Given the description of an element on the screen output the (x, y) to click on. 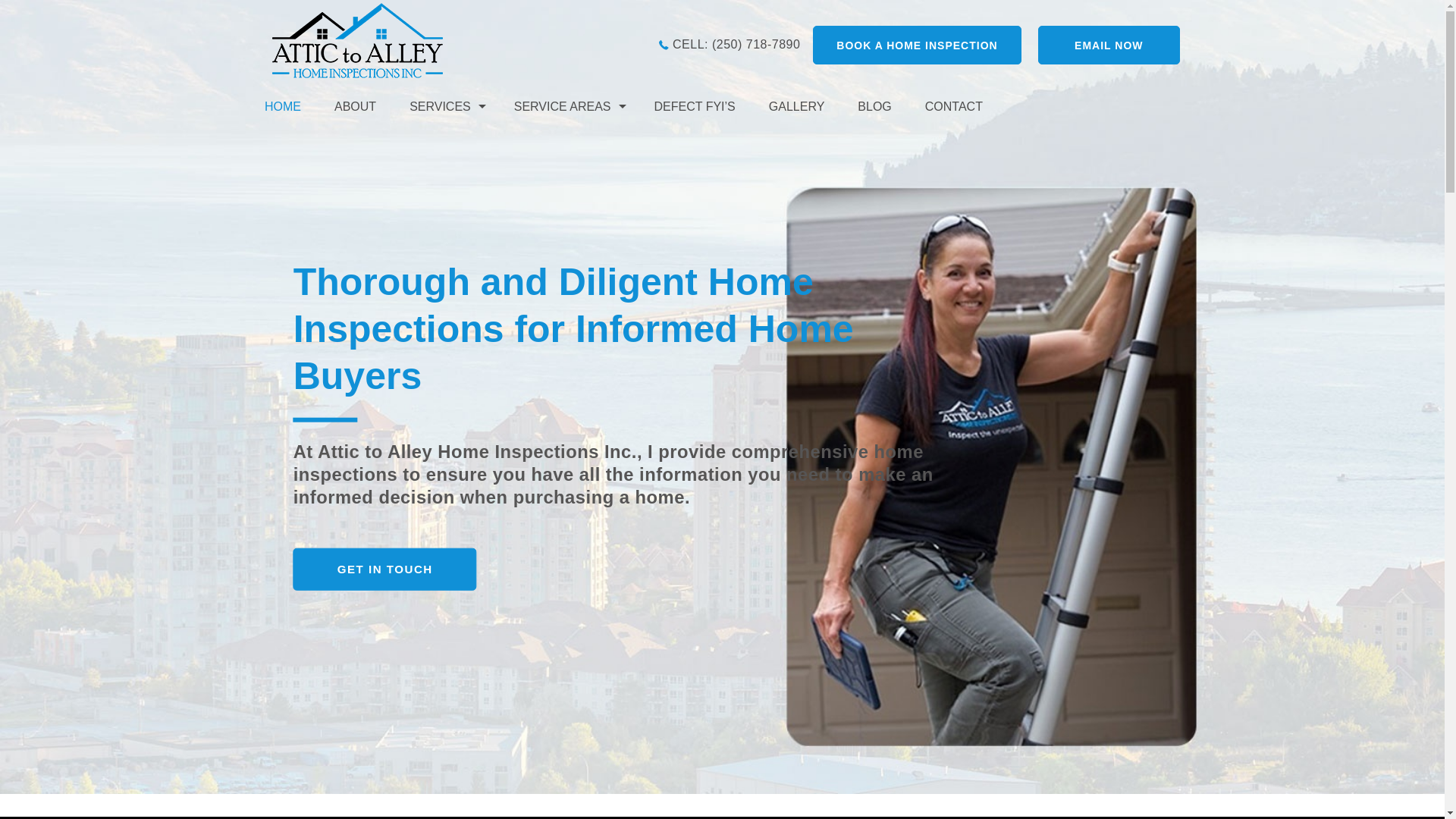
SERVICES Element type: text (444, 106)
CONTACT Element type: text (953, 106)
BOOK A HOME INSPECTION Element type: text (916, 44)
GALLERY Element type: text (796, 106)
CELL: (250) 718-7890 Element type: text (729, 43)
GET IN TOUCH Element type: text (384, 569)
EMAIL NOW Element type: text (1108, 44)
HOME Element type: text (290, 106)
ABOUT Element type: text (354, 106)
BLOG Element type: text (873, 106)
SERVICE AREAS Element type: text (567, 106)
